Given the description of an element on the screen output the (x, y) to click on. 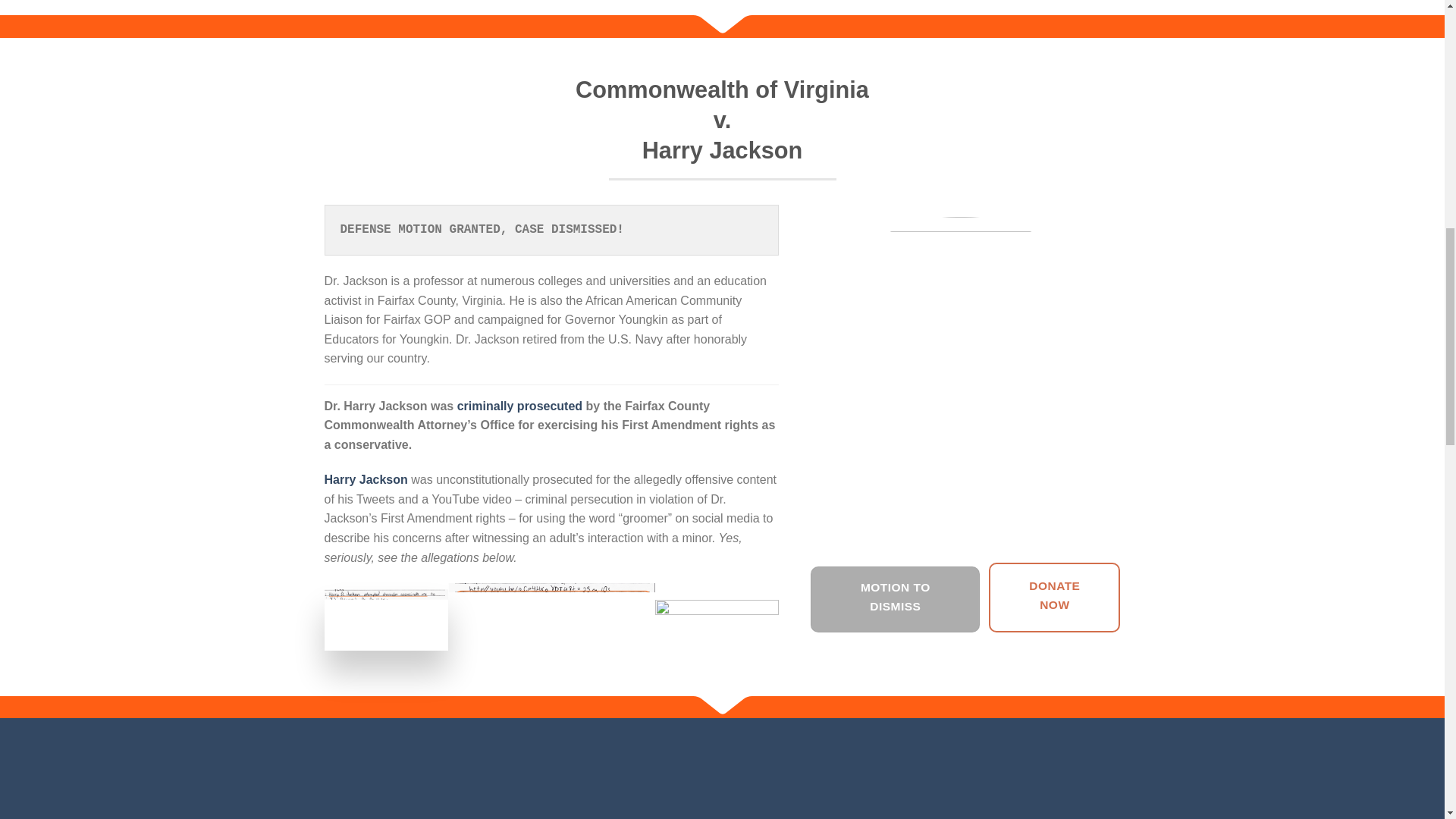
MOTION TO DISMISS (894, 599)
Harry Jackson (365, 479)
DONATE NOW (1053, 597)
criminally prosecuted (519, 405)
